Given the description of an element on the screen output the (x, y) to click on. 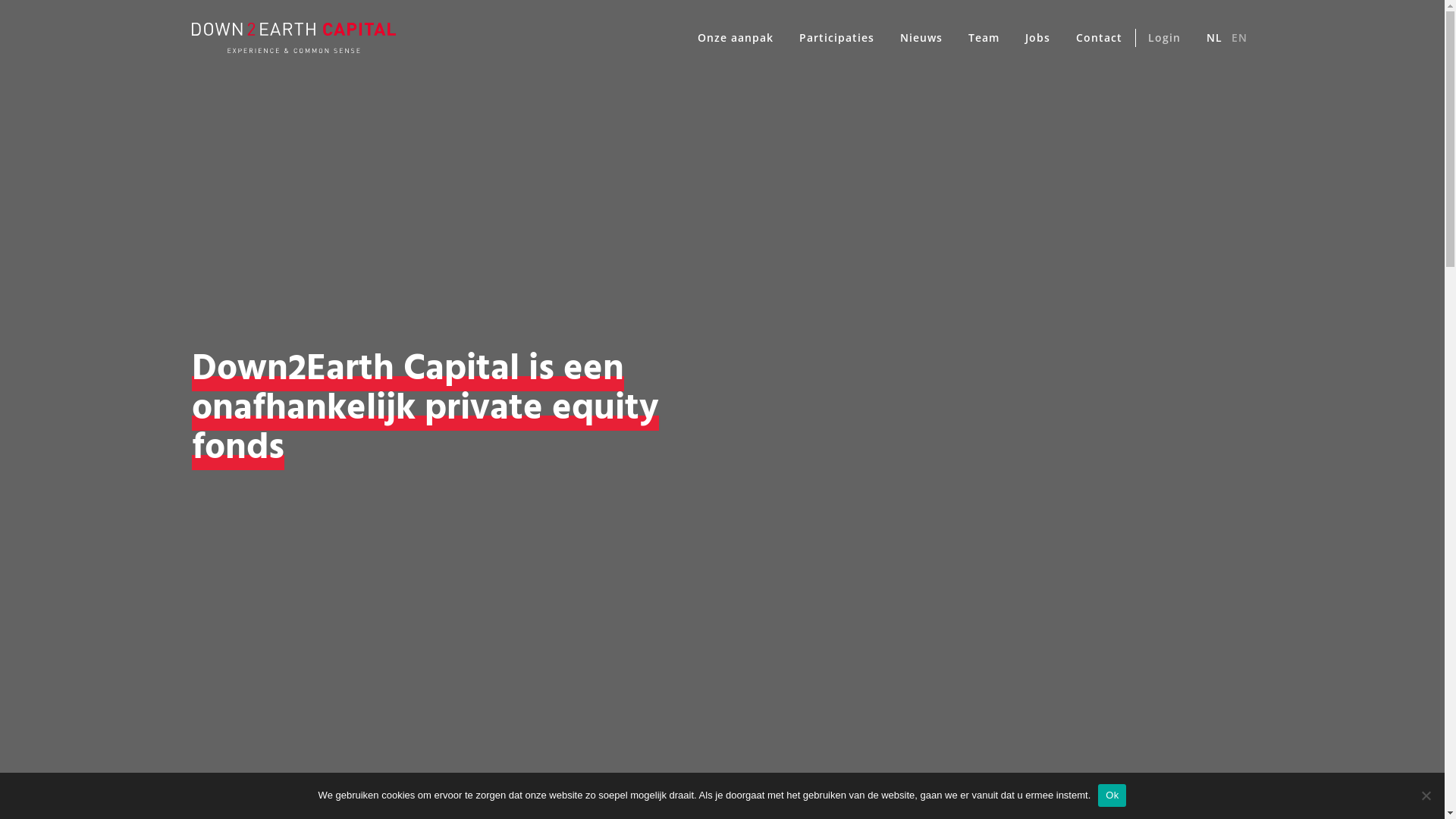
Contact Element type: text (1099, 37)
Nieuws Element type: text (921, 37)
Login Element type: text (1163, 37)
Participaties Element type: text (835, 37)
Jobs Element type: text (1036, 37)
Onze aanpak Element type: text (734, 37)
Nee Element type: hover (1425, 795)
NL Element type: text (1210, 37)
Ok Element type: text (1112, 795)
Team Element type: text (983, 37)
EN Element type: text (1240, 37)
